Given the description of an element on the screen output the (x, y) to click on. 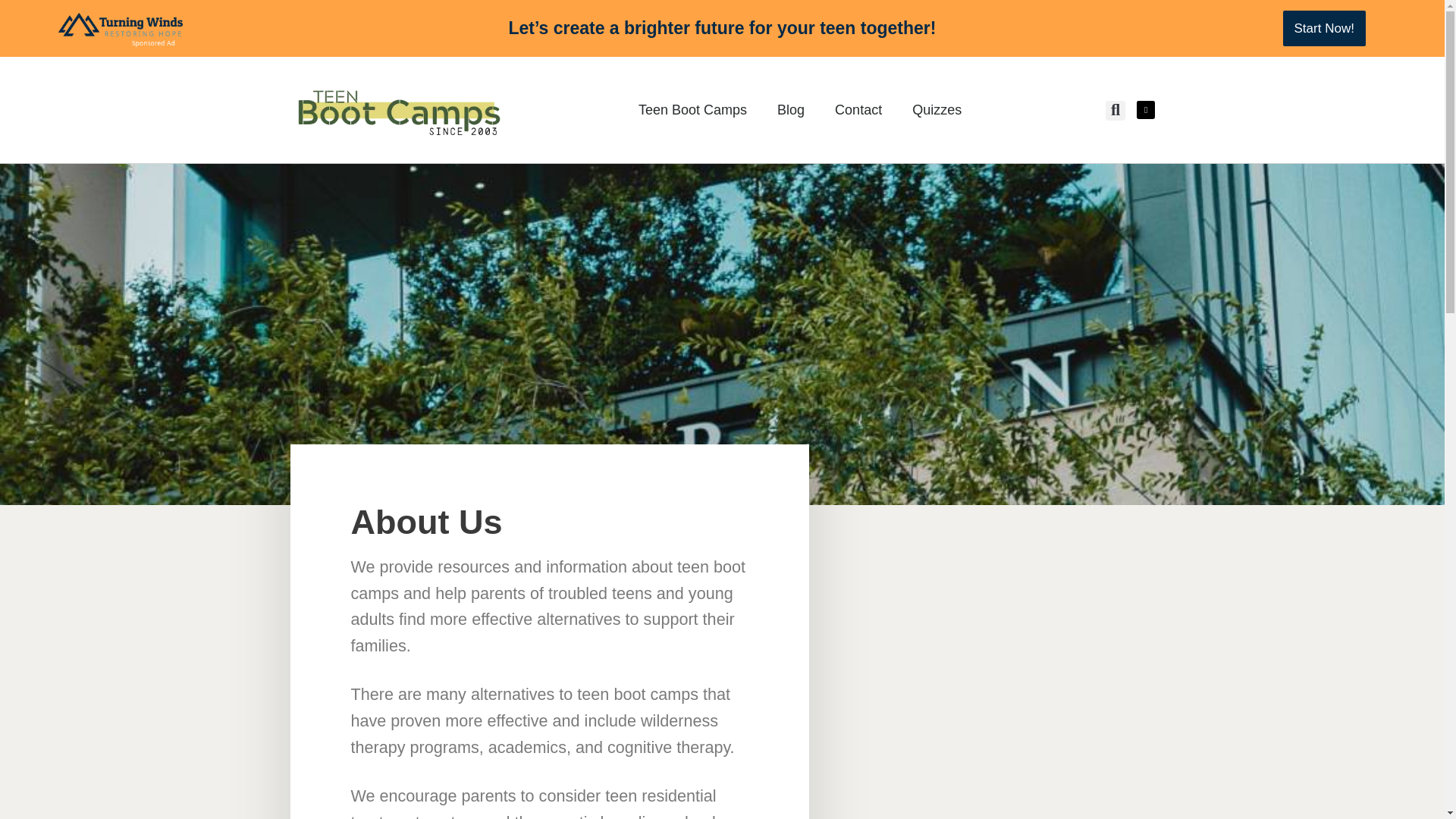
Start Now! (1323, 27)
Teen Boot Camps (692, 109)
Skip to content (11, 31)
